Given the description of an element on the screen output the (x, y) to click on. 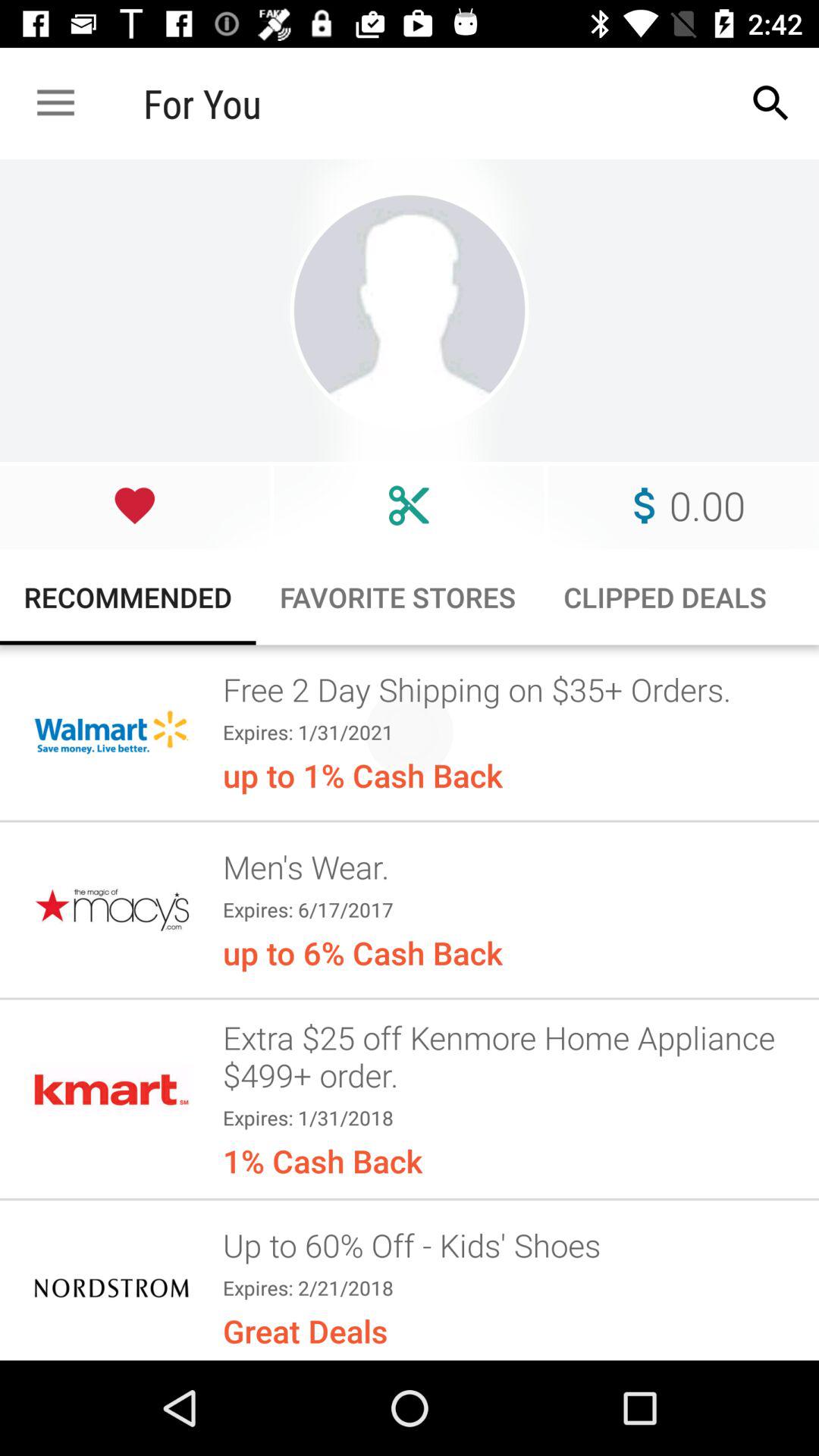
turn on the icon next to the for you icon (55, 103)
